Given the description of an element on the screen output the (x, y) to click on. 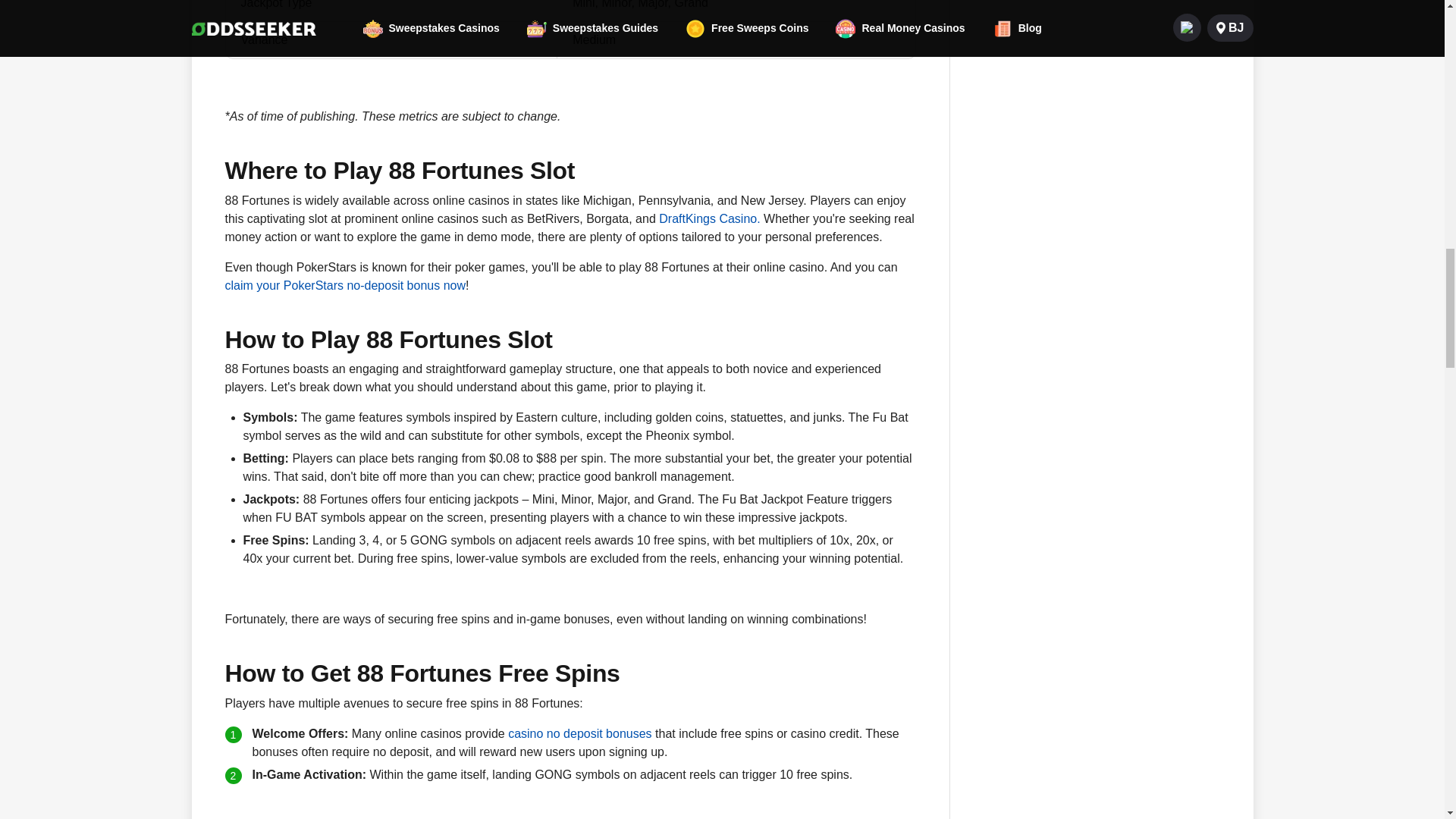
claim your PokerStars no-deposit bonus now (344, 285)
DraftKings Casino. (709, 218)
casino no deposit bonuses (579, 733)
